Given the description of an element on the screen output the (x, y) to click on. 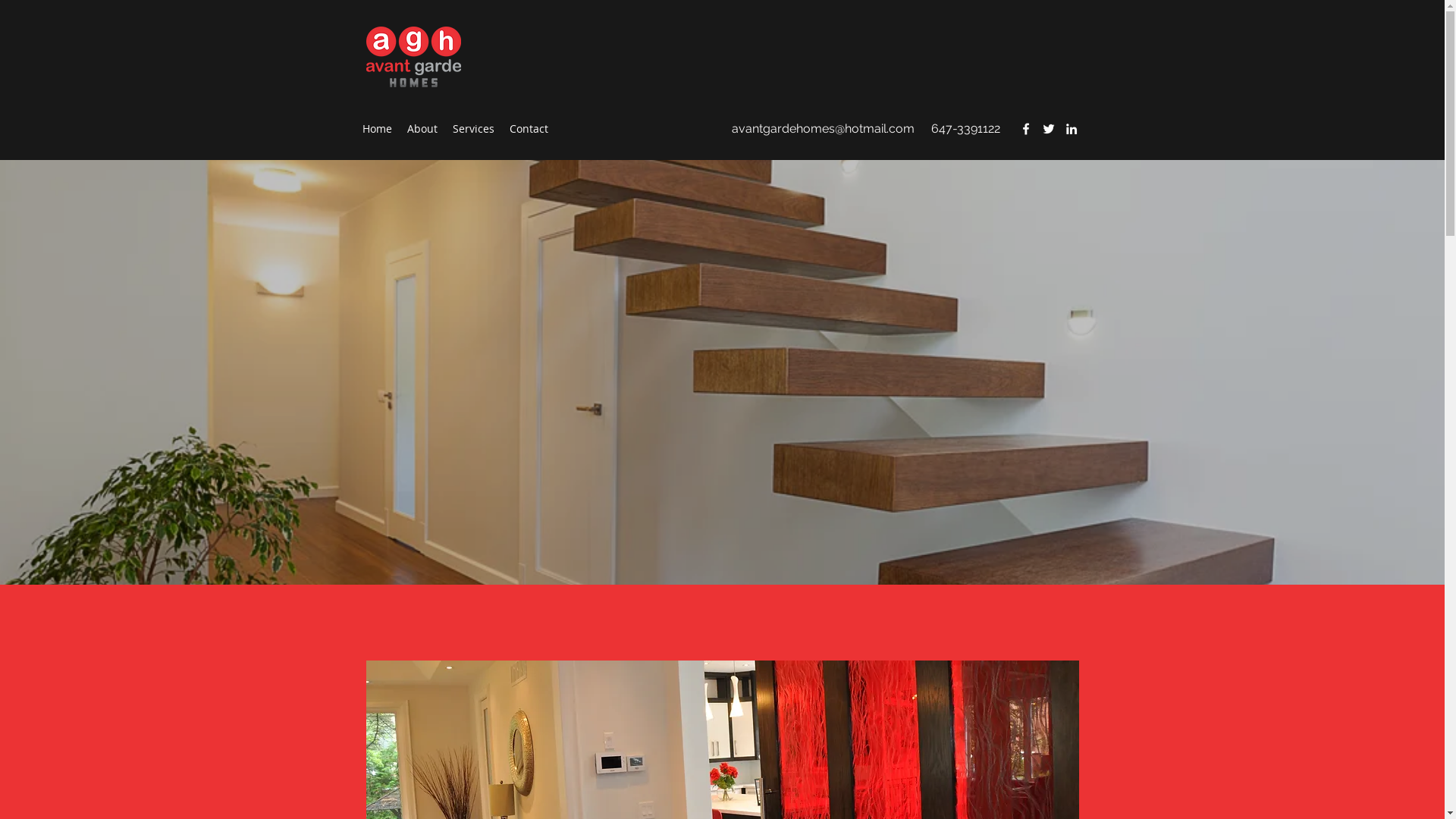
avantgardehomes@hotmail.com Element type: text (822, 128)
Services Element type: text (472, 128)
About Element type: text (421, 128)
Contact Element type: text (528, 128)
Home Element type: text (376, 128)
